Given the description of an element on the screen output the (x, y) to click on. 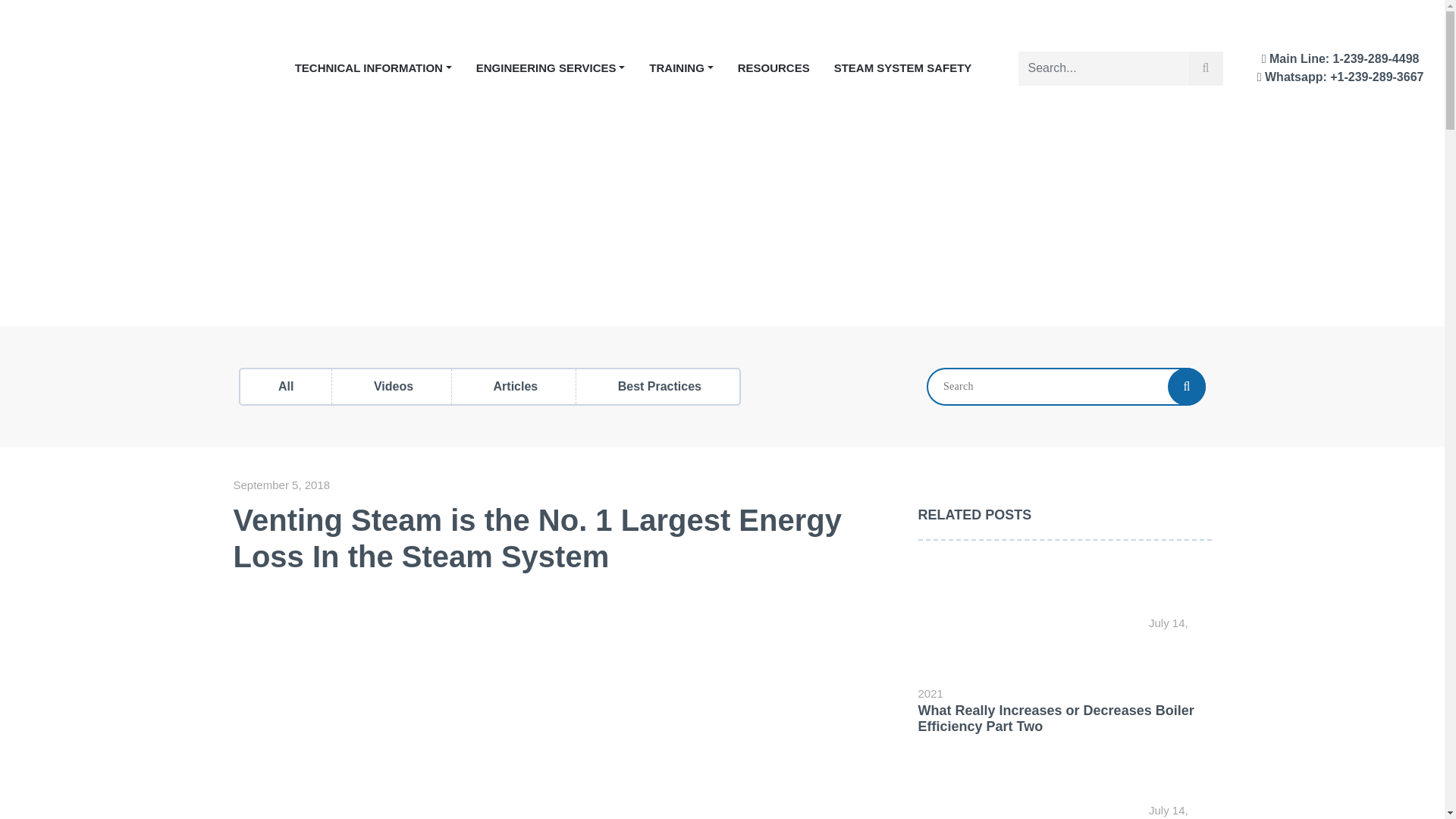
TECHNICAL INFORMATION (373, 68)
1-239-289-4498 (1376, 58)
Best Practices (659, 386)
Articles (515, 386)
STEAM SYSTEM SAFETY (903, 68)
RESOURCES (773, 68)
ENGINEERING SERVICES (550, 68)
Videos (393, 386)
All (285, 386)
TRAINING (681, 68)
